Given the description of an element on the screen output the (x, y) to click on. 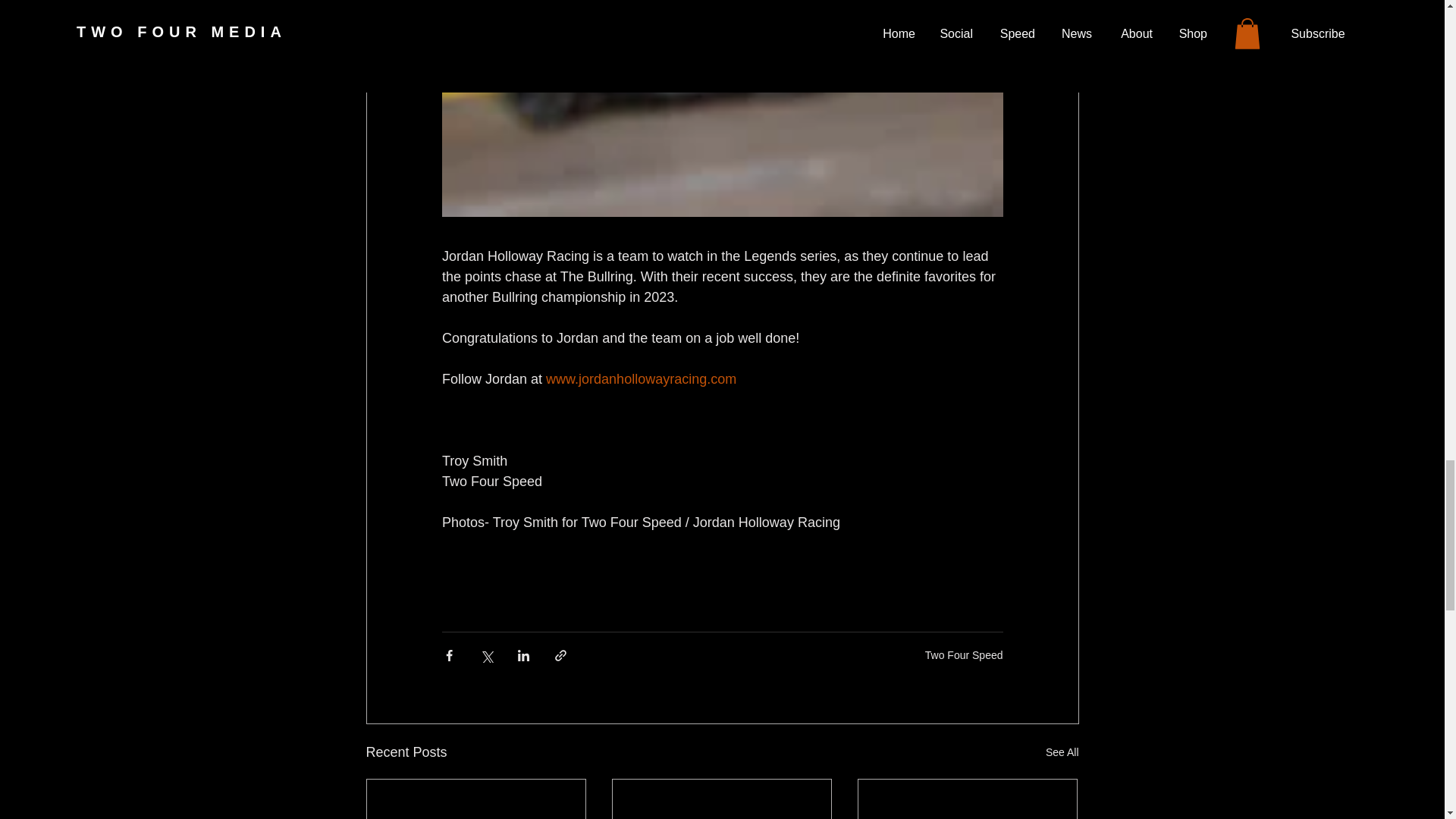
See All (1061, 752)
www.jordanhollowayracing.com (641, 378)
Two Four Speed (963, 654)
